Given the description of an element on the screen output the (x, y) to click on. 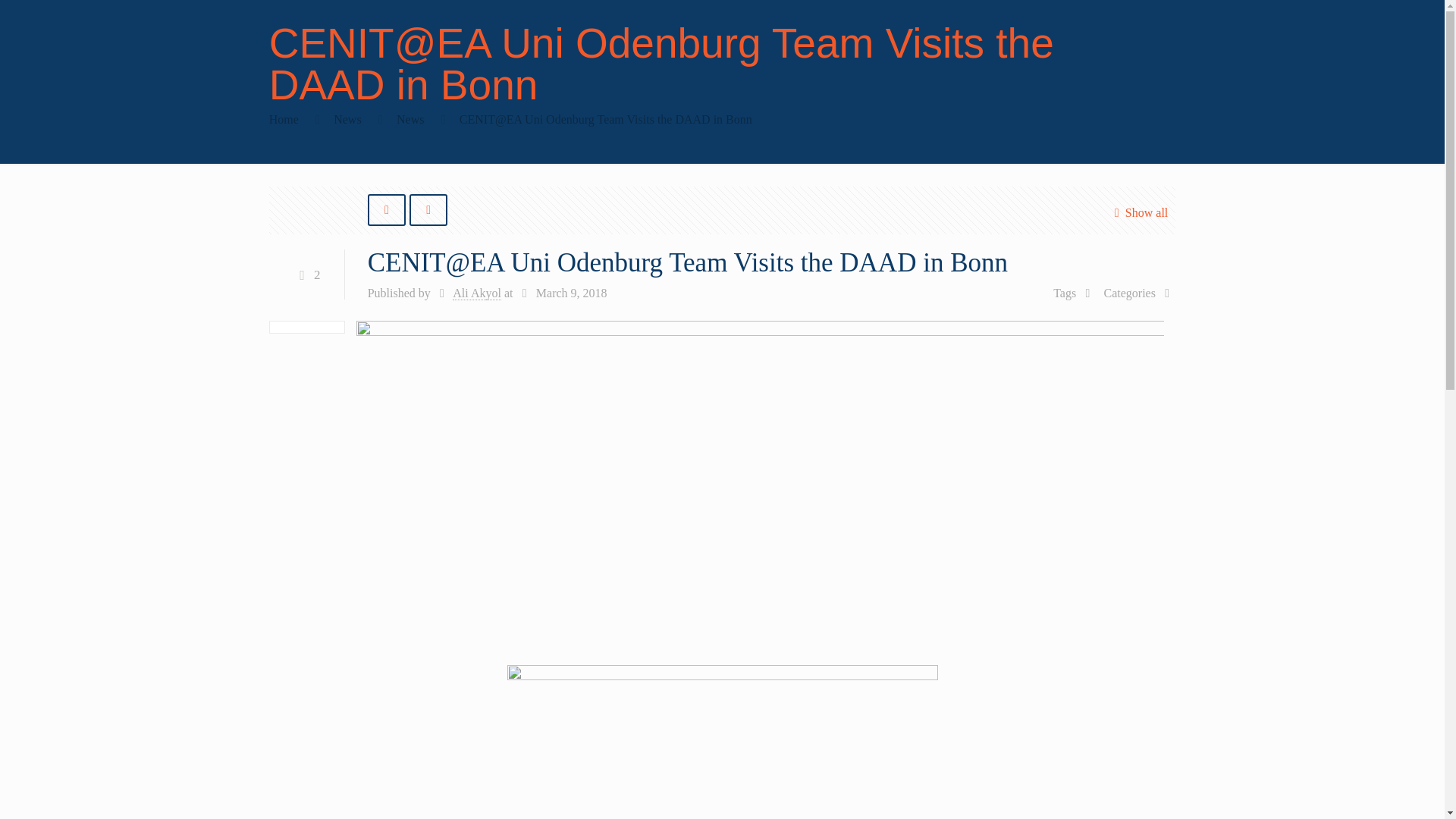
News (347, 119)
Home (283, 119)
News (409, 119)
